Given the description of an element on the screen output the (x, y) to click on. 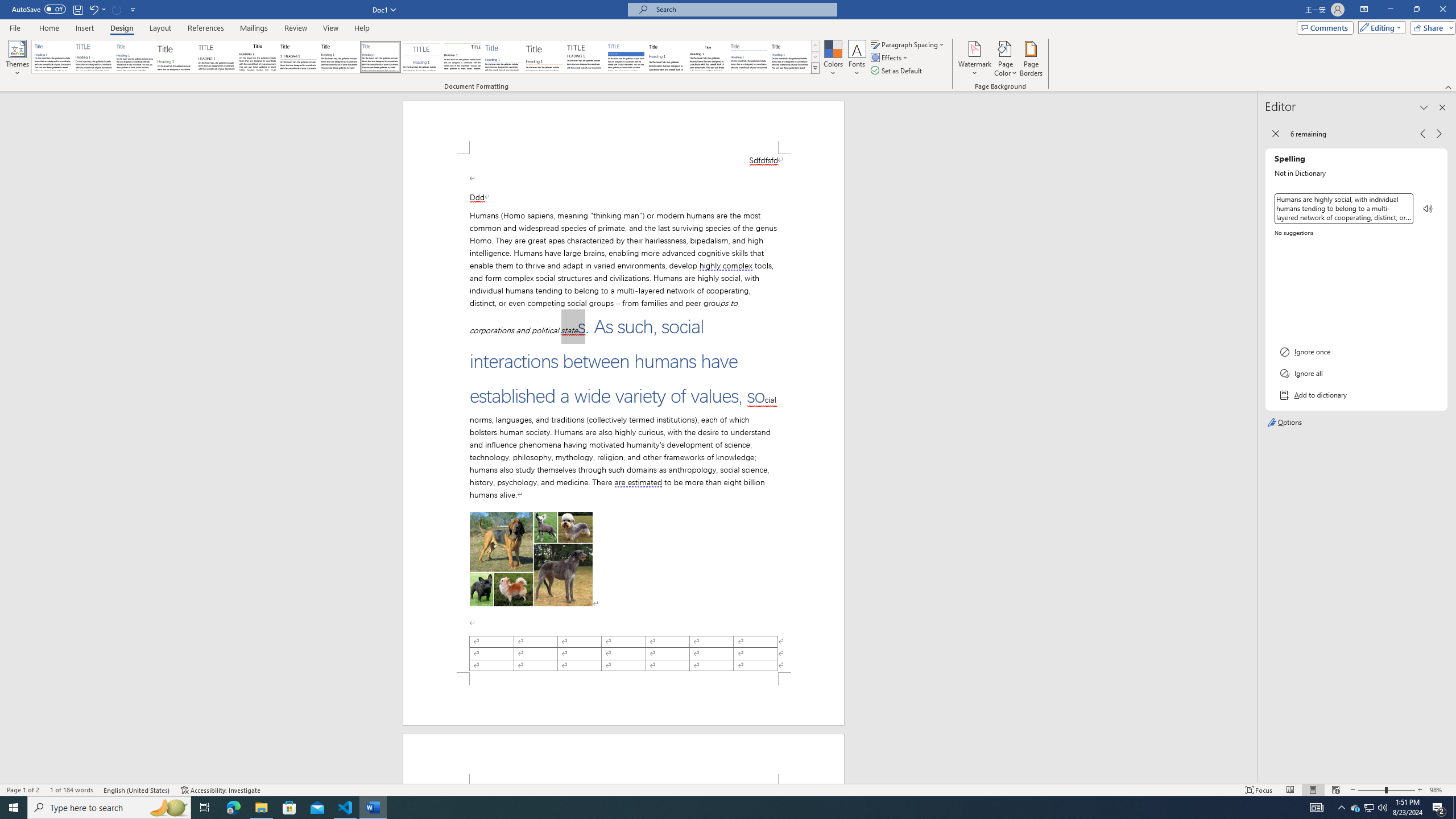
Previous Issue, 6 remaining (1422, 133)
Word 2003 (707, 56)
Page 1 content (623, 412)
Lines (Simple) (503, 56)
Can't Repeat (117, 9)
